Given the description of an element on the screen output the (x, y) to click on. 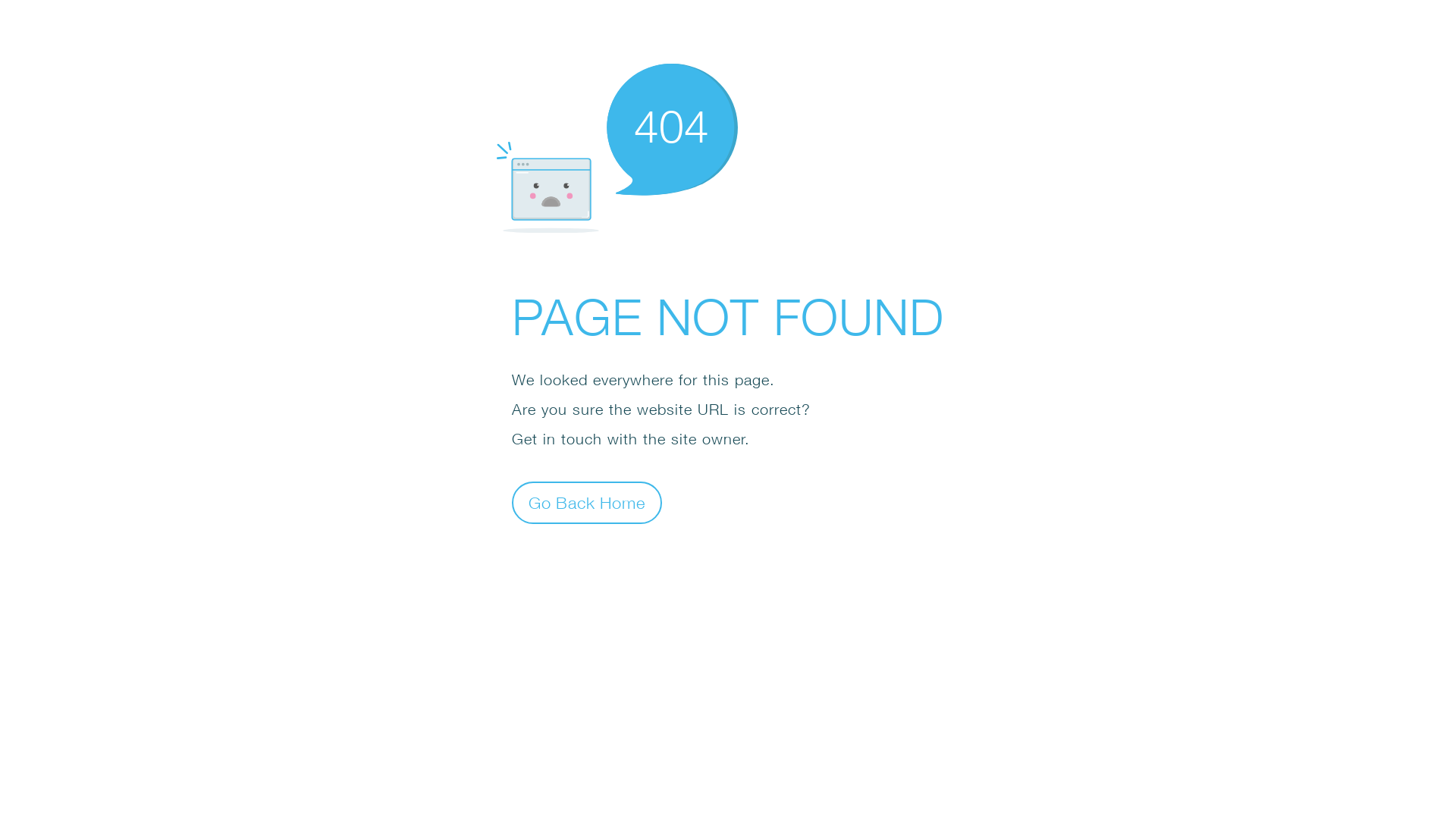
Go Back Home Element type: text (586, 502)
